Given the description of an element on the screen output the (x, y) to click on. 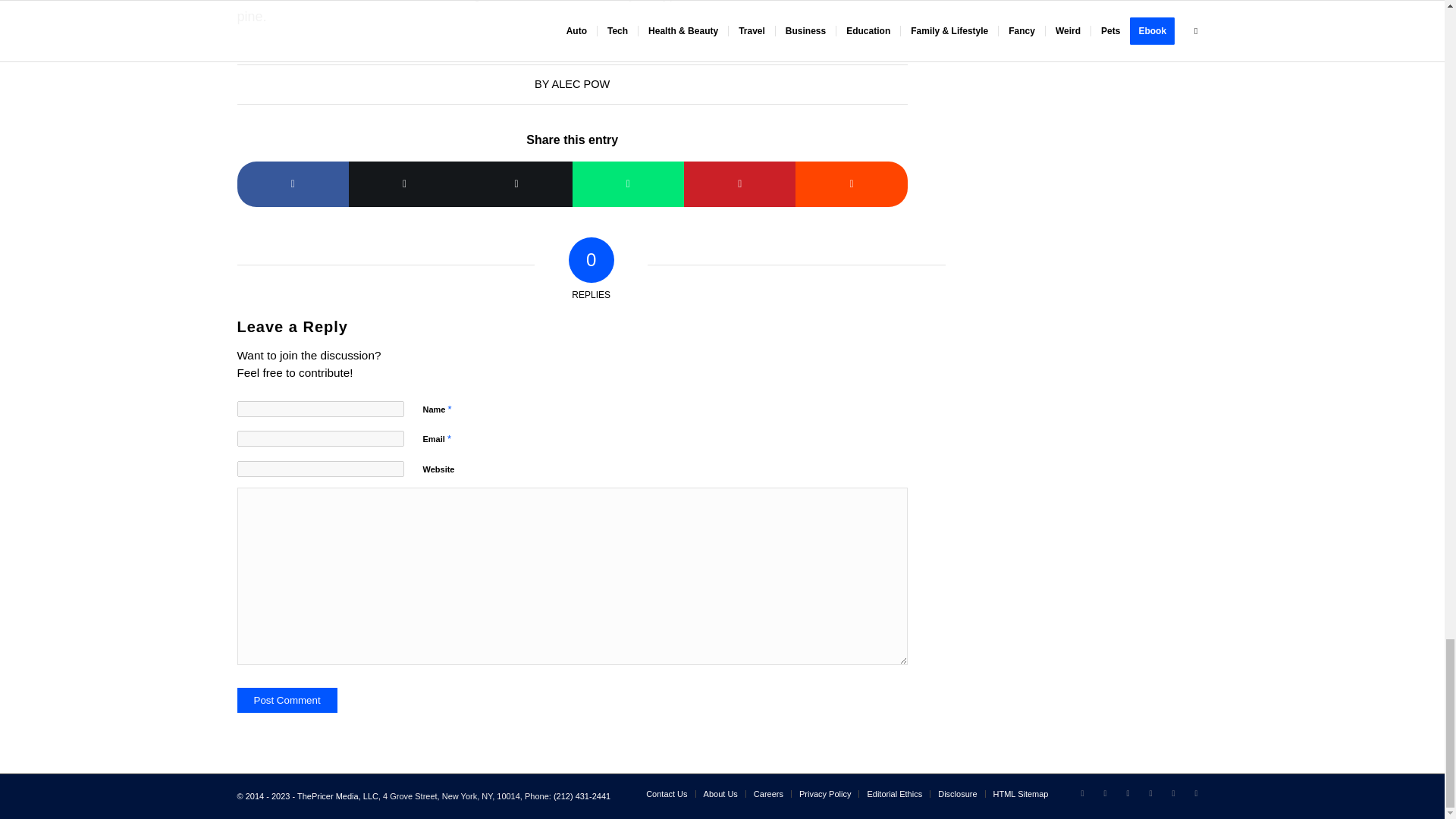
Twitter (1081, 793)
Facebook (1127, 793)
Posts by Alec Pow (580, 83)
Youtube (1196, 793)
Instagram (1149, 793)
Post Comment (285, 699)
LinkedIn (1104, 793)
Pinterest (1173, 793)
